Given the description of an element on the screen output the (x, y) to click on. 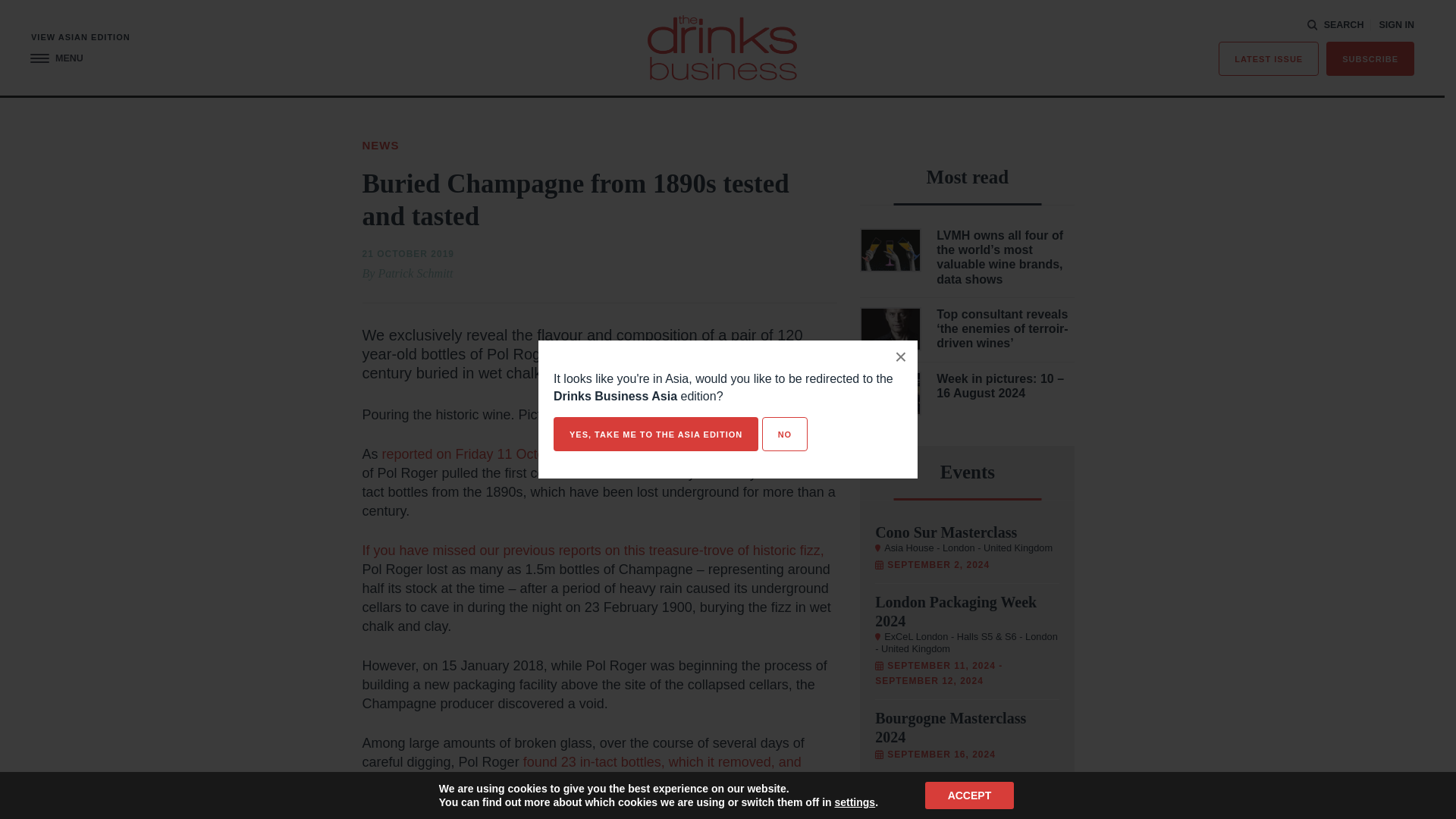
YES, TAKE ME TO THE ASIA EDITION (655, 433)
NO (784, 433)
SUBSCRIBE (1369, 58)
LATEST ISSUE (1268, 58)
SIGN IN (1395, 25)
The Drinks Business (721, 47)
VIEW ASIAN EDITION (80, 37)
